Given the description of an element on the screen output the (x, y) to click on. 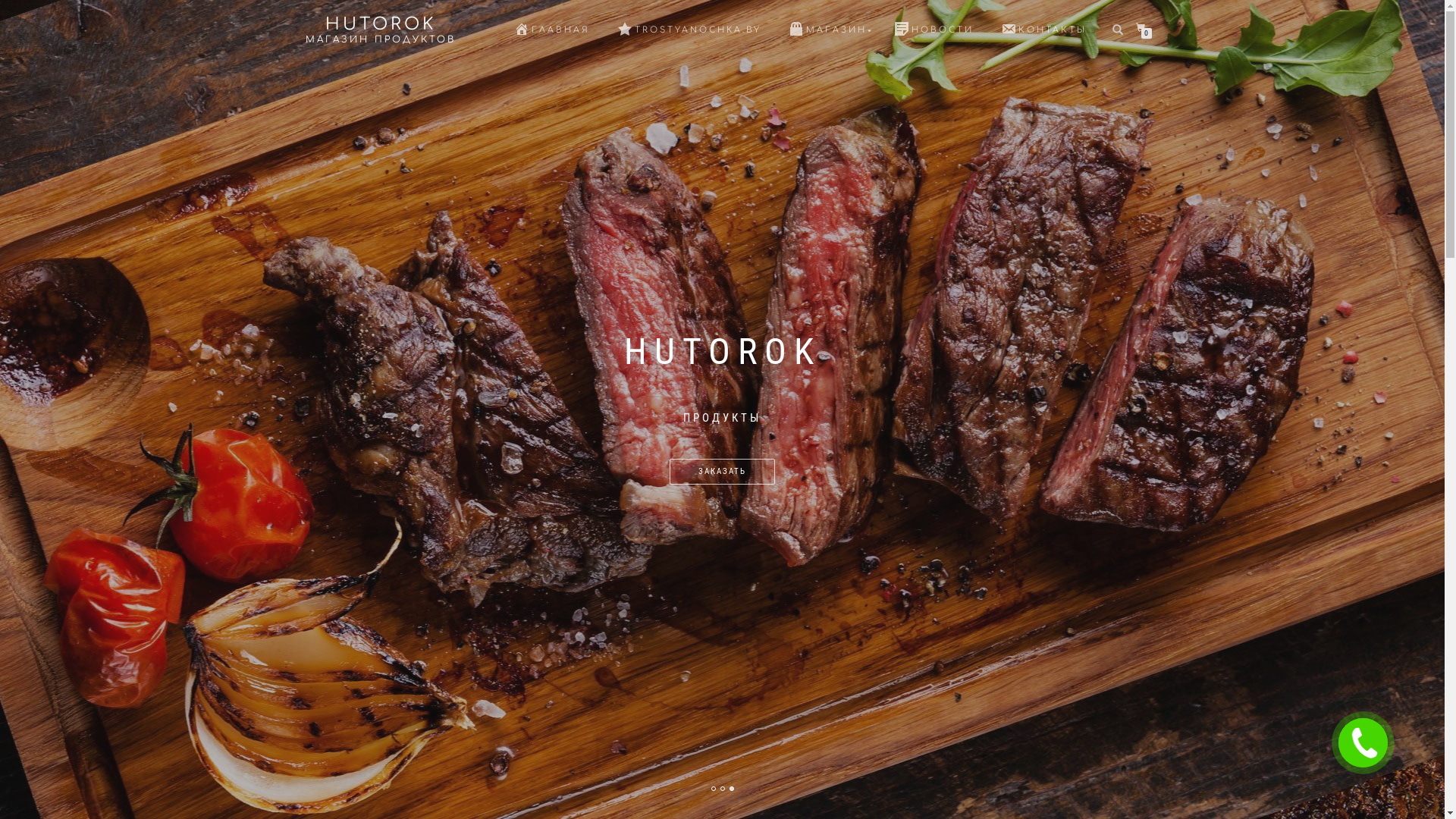
HUTOROK Element type: text (379, 24)
0 Element type: text (1143, 27)
TROSTYANOCHKA.BY Element type: text (688, 30)
1 Element type: text (713, 788)
3 Element type: text (731, 788)
2 Element type: text (722, 788)
